Given the description of an element on the screen output the (x, y) to click on. 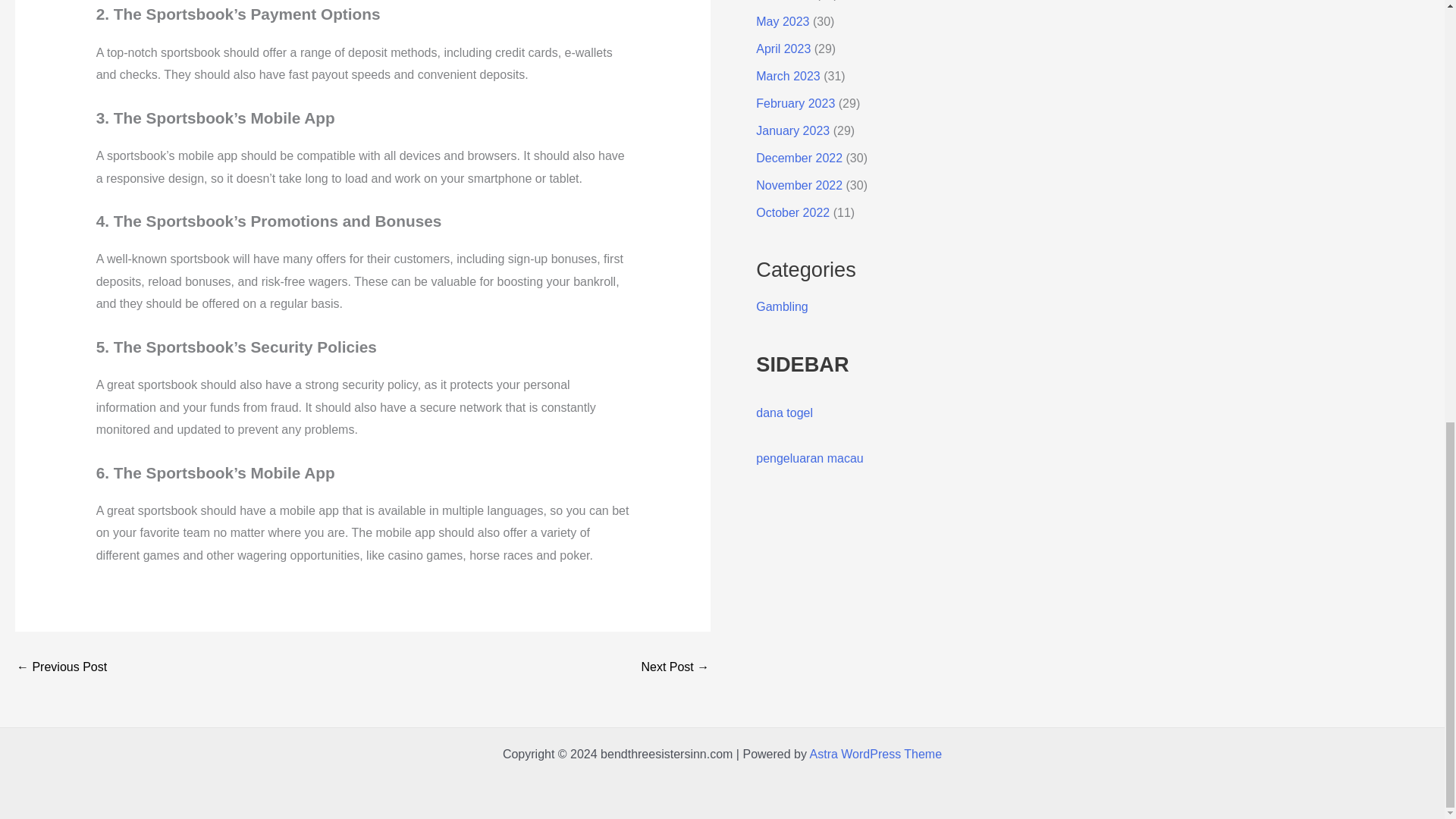
February 2023 (794, 103)
June 2023 (783, 0)
April 2023 (782, 48)
January 2023 (792, 130)
October 2022 (792, 212)
Gambling (781, 306)
March 2023 (788, 75)
December 2022 (799, 157)
November 2022 (799, 185)
May 2023 (782, 21)
